Given the description of an element on the screen output the (x, y) to click on. 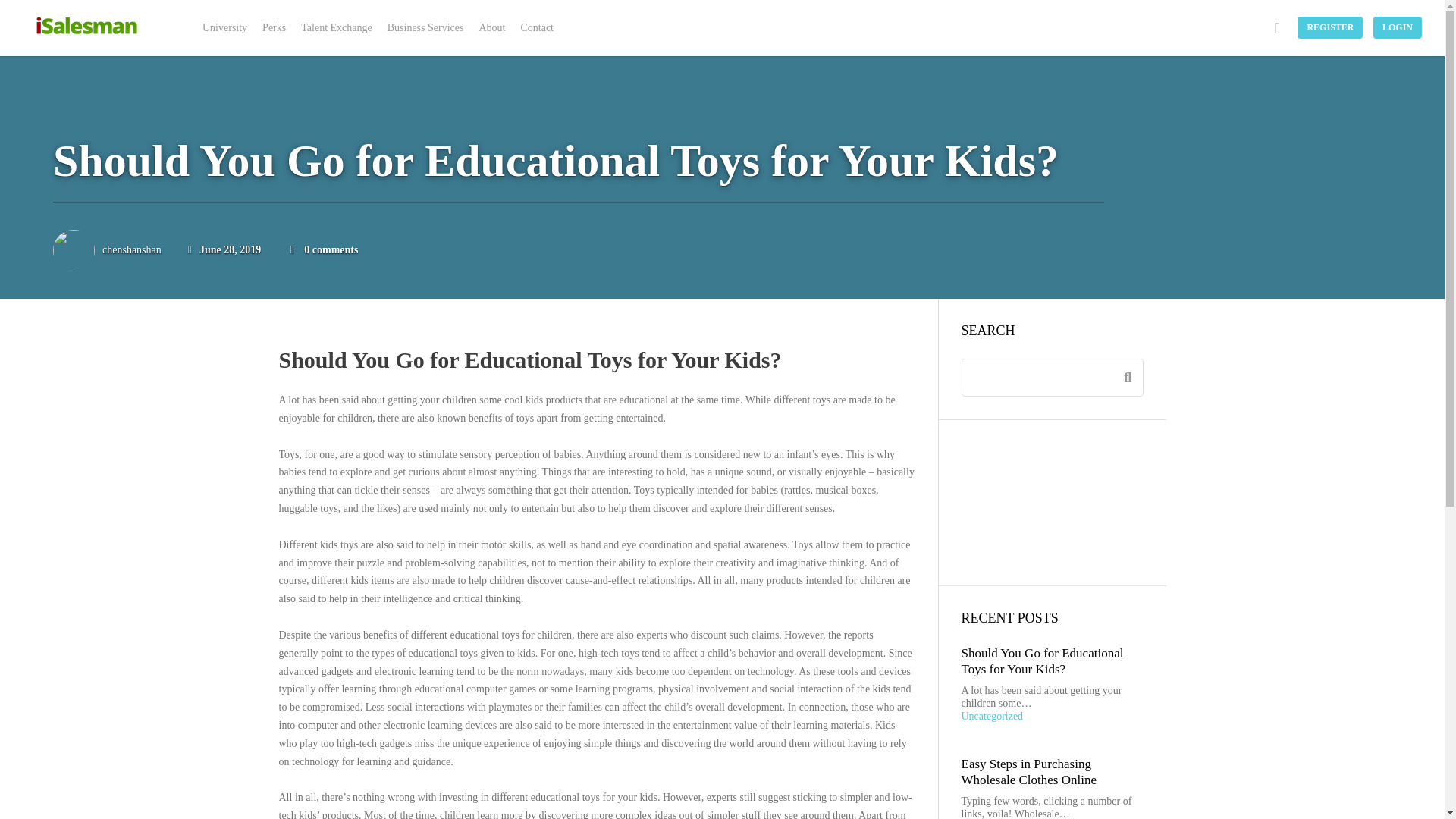
Easy Steps in Purchasing Wholesale Clothes Online (1028, 771)
Business Services (425, 28)
0 comments (331, 249)
University (224, 28)
chenshanshan (131, 249)
June 28, 2019 (223, 249)
View all posts by chenshanshan (131, 249)
Uncategorized (1047, 716)
REGISTER (1329, 27)
5:00 am (223, 249)
